Given the description of an element on the screen output the (x, y) to click on. 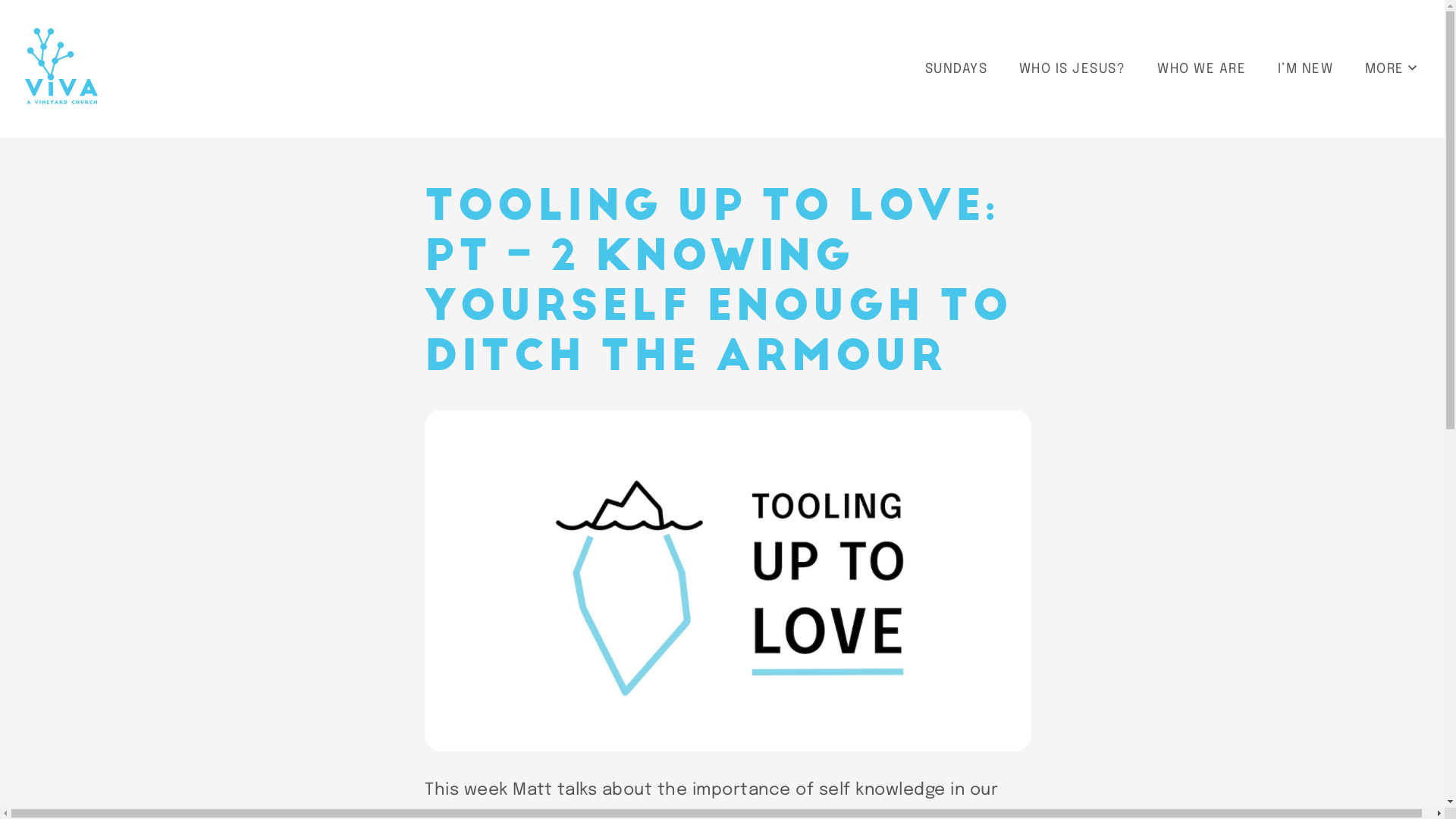
MORE Element type: text (1390, 68)
WHO IS JESUS? Element type: text (1072, 68)
SUNDAYS Element type: text (956, 68)
WHO WE ARE Element type: text (1200, 68)
